Given the description of an element on the screen output the (x, y) to click on. 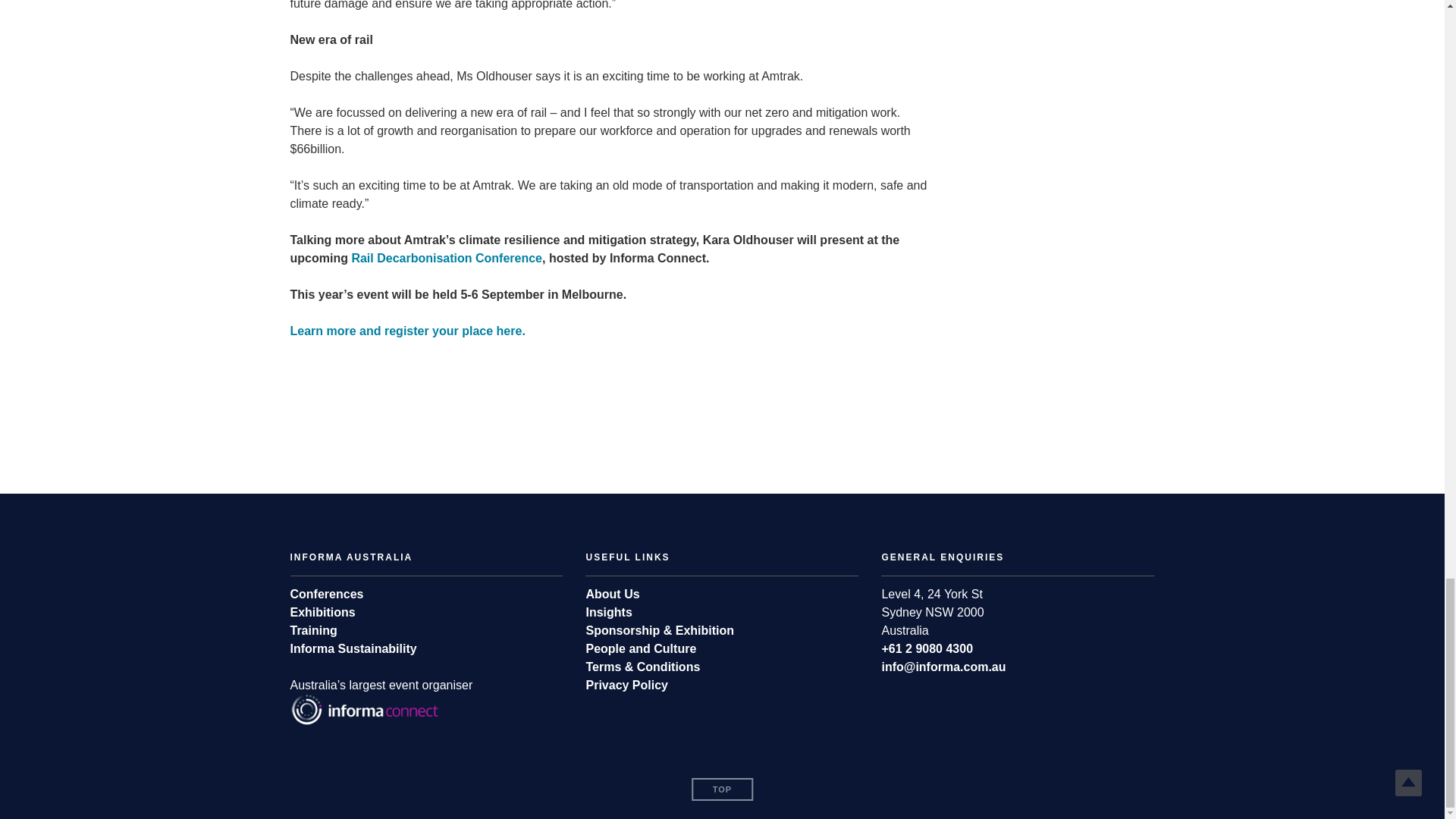
Learn more and register your place here. (406, 330)
Training (312, 630)
Insights (608, 612)
About Us (612, 594)
Informa Sustainability (352, 648)
Conferences (325, 594)
Rail Decarbonisation Conference (445, 257)
Exhibitions (322, 612)
